Given the description of an element on the screen output the (x, y) to click on. 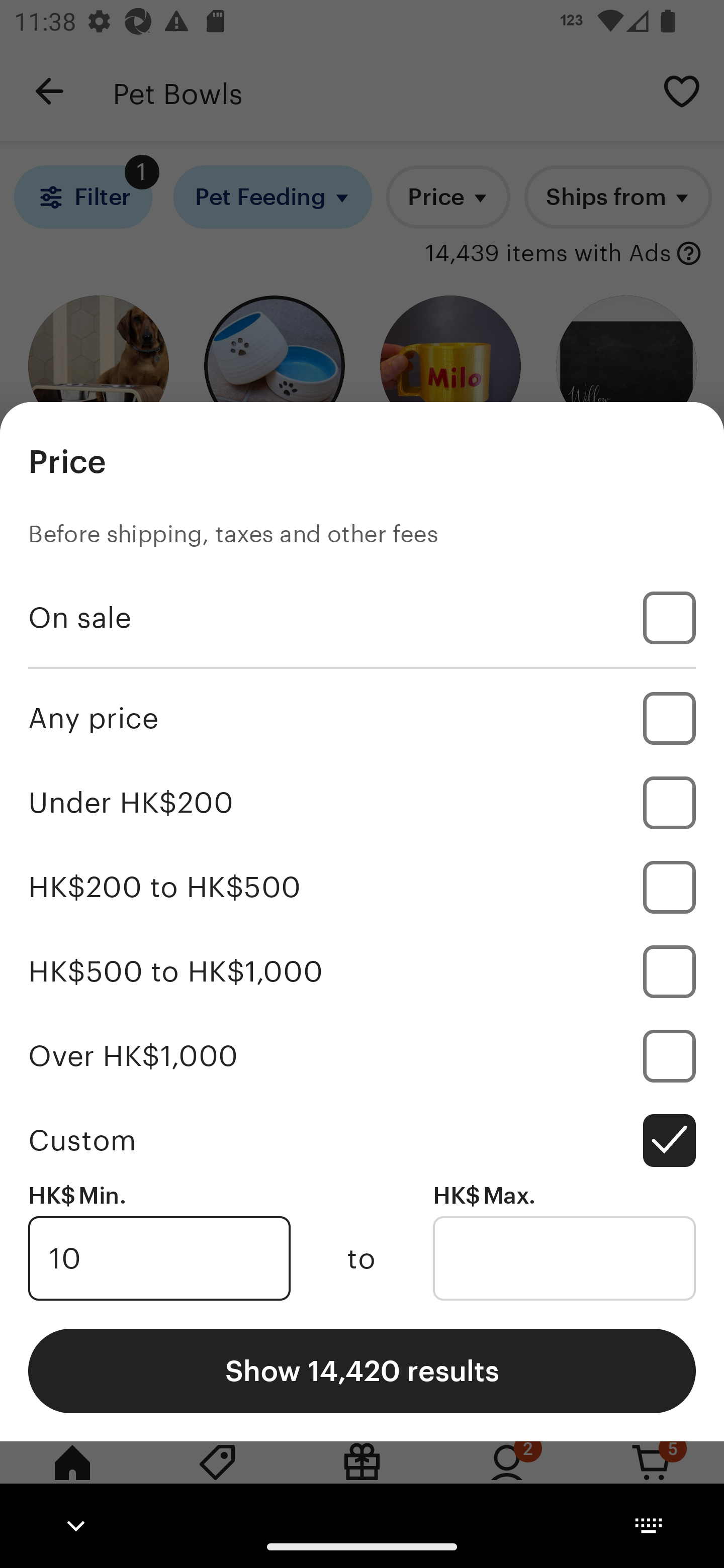
On sale (362, 617)
Any price (362, 717)
Under HK$200 (362, 802)
HK$200 to HK$500 (362, 887)
HK$500 to HK$1,000 (362, 970)
Over HK$1,000 (362, 1054)
Custom (362, 1139)
10 (159, 1257)
Show 14,420 results (361, 1370)
